Given the description of an element on the screen output the (x, y) to click on. 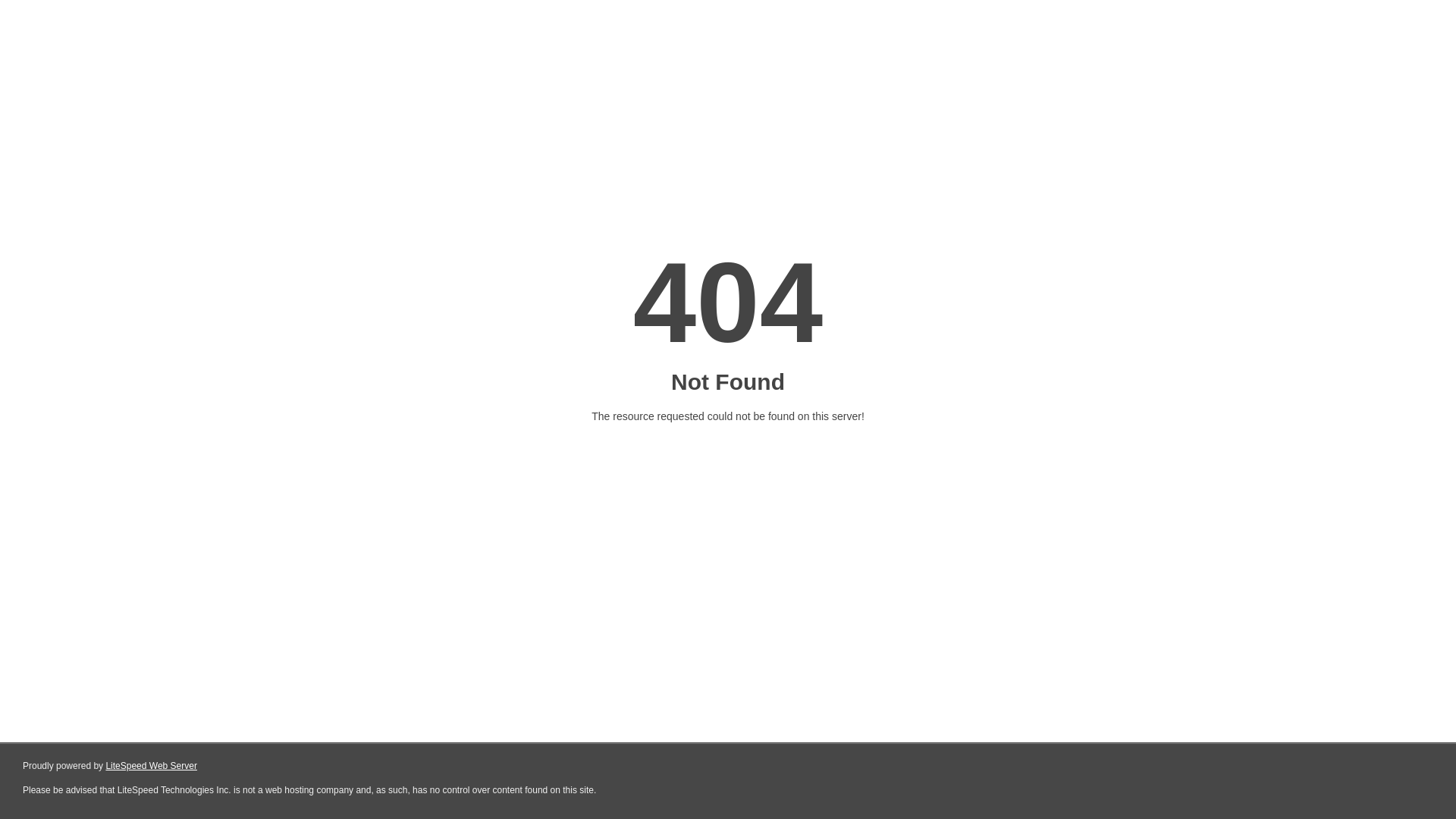
LiteSpeed Web Server Element type: text (151, 765)
